Given the description of an element on the screen output the (x, y) to click on. 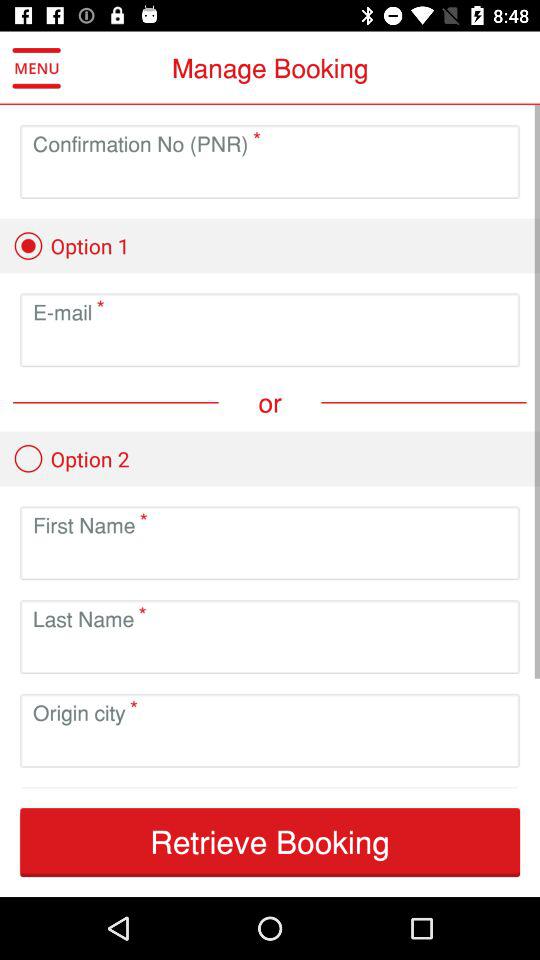
input city (270, 746)
